Given the description of an element on the screen output the (x, y) to click on. 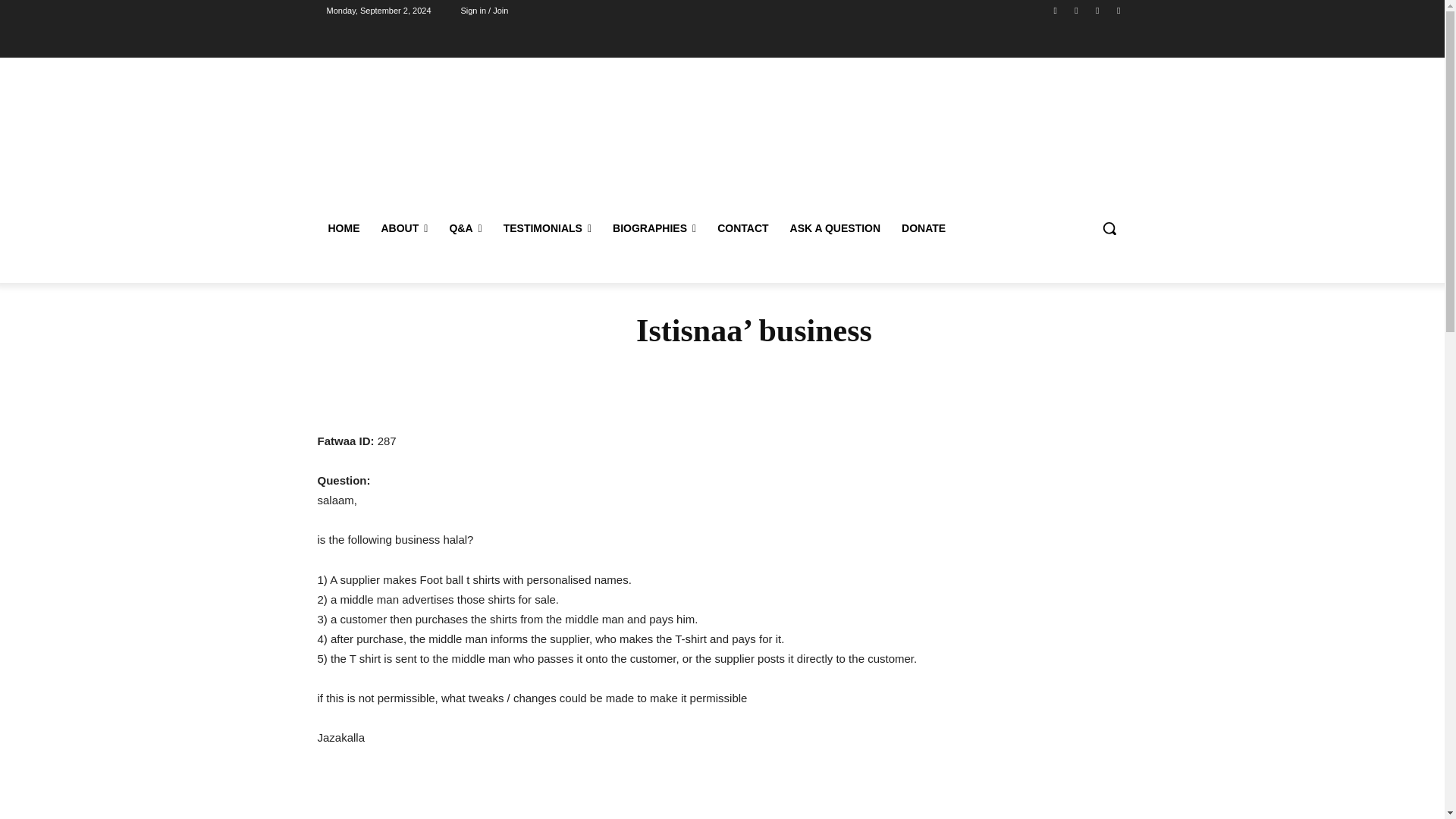
Facebook (1055, 9)
Twitter (1117, 9)
Instagram (1075, 9)
Mail (1097, 9)
